Given the description of an element on the screen output the (x, y) to click on. 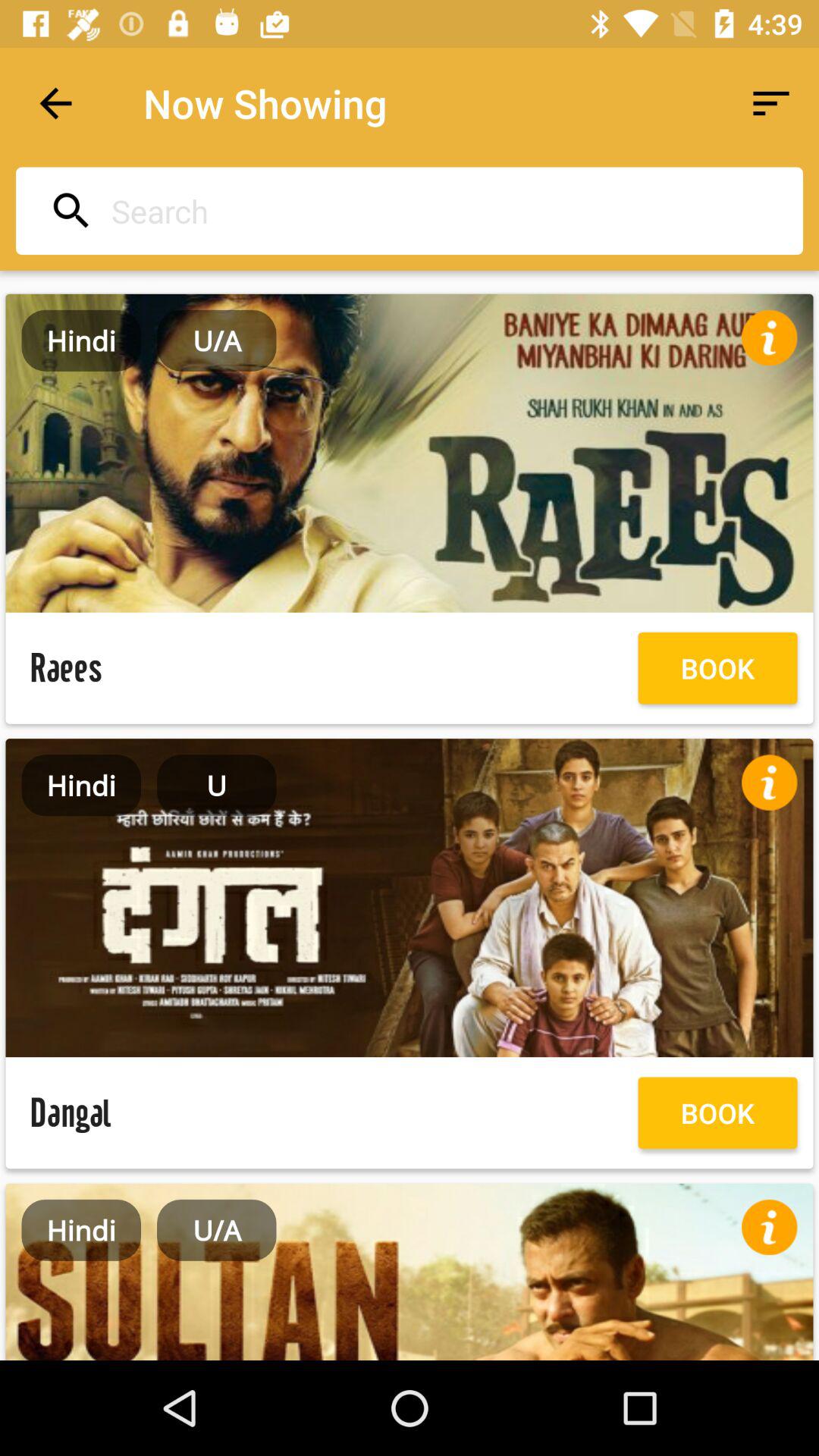
show information (769, 1227)
